Given the description of an element on the screen output the (x, y) to click on. 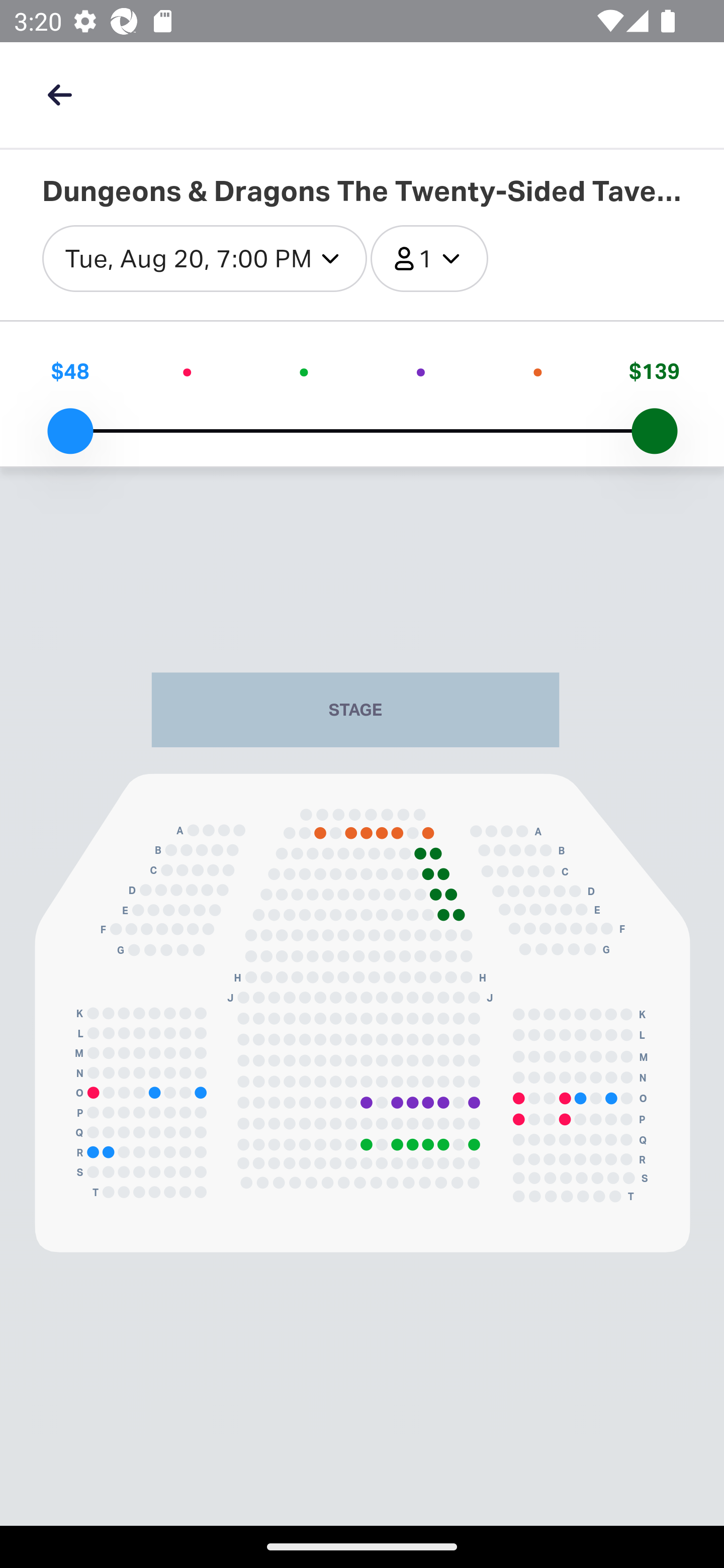
back button (59, 94)
Tue, Aug 20, 7:00 PM (204, 259)
1 (429, 259)
$48 (70, 370)
• (187, 370)
• (303, 370)
• (421, 370)
• (537, 370)
$139 (653, 370)
0.0 (69, 431)
100.0 (654, 431)
